Given the description of an element on the screen output the (x, y) to click on. 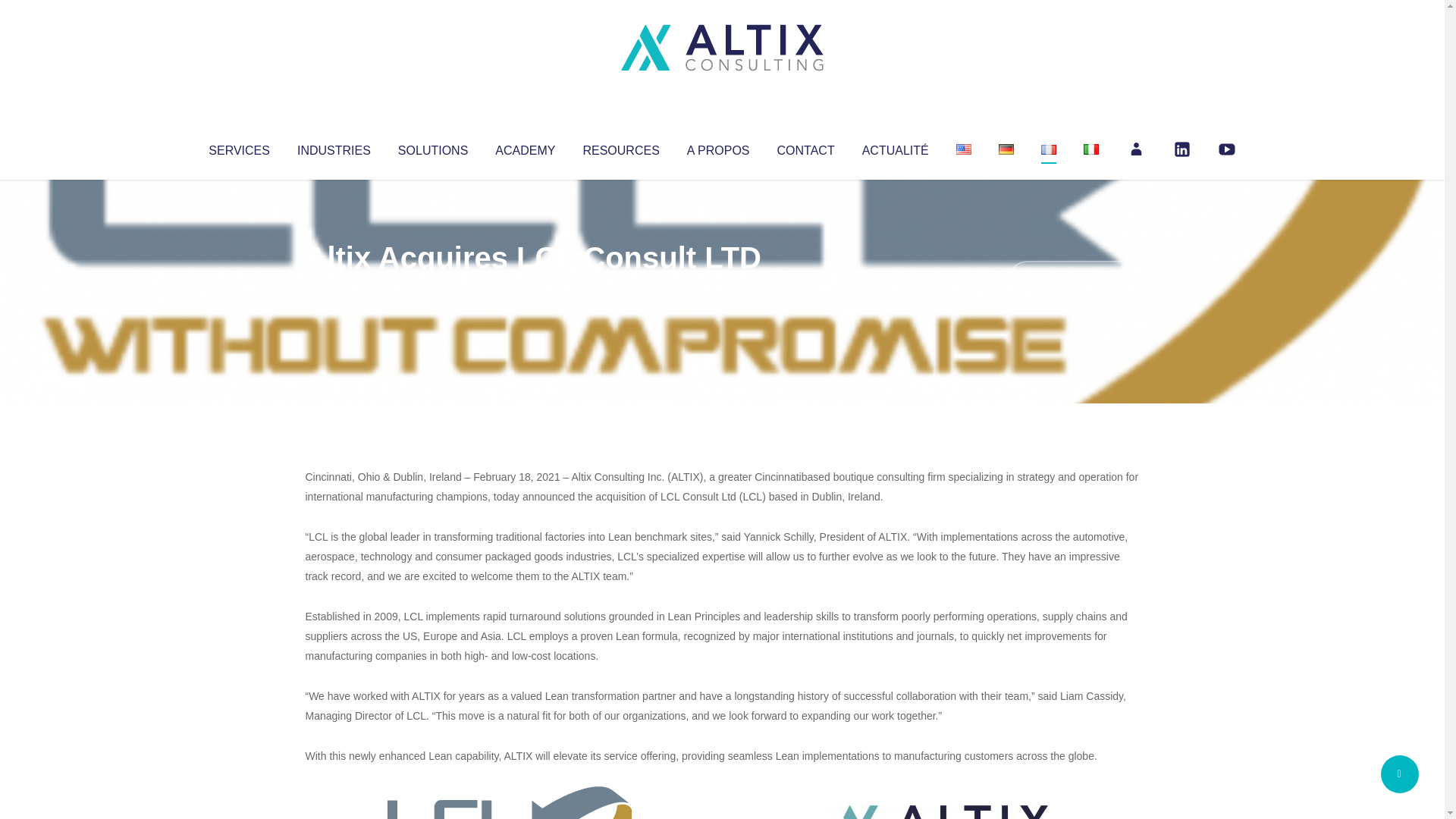
RESOURCES (620, 146)
SOLUTIONS (432, 146)
SERVICES (238, 146)
INDUSTRIES (334, 146)
ACADEMY (524, 146)
No Comments (1073, 278)
A PROPOS (718, 146)
Uncategorized (530, 287)
Altix (333, 287)
Articles par Altix (333, 287)
